Given the description of an element on the screen output the (x, y) to click on. 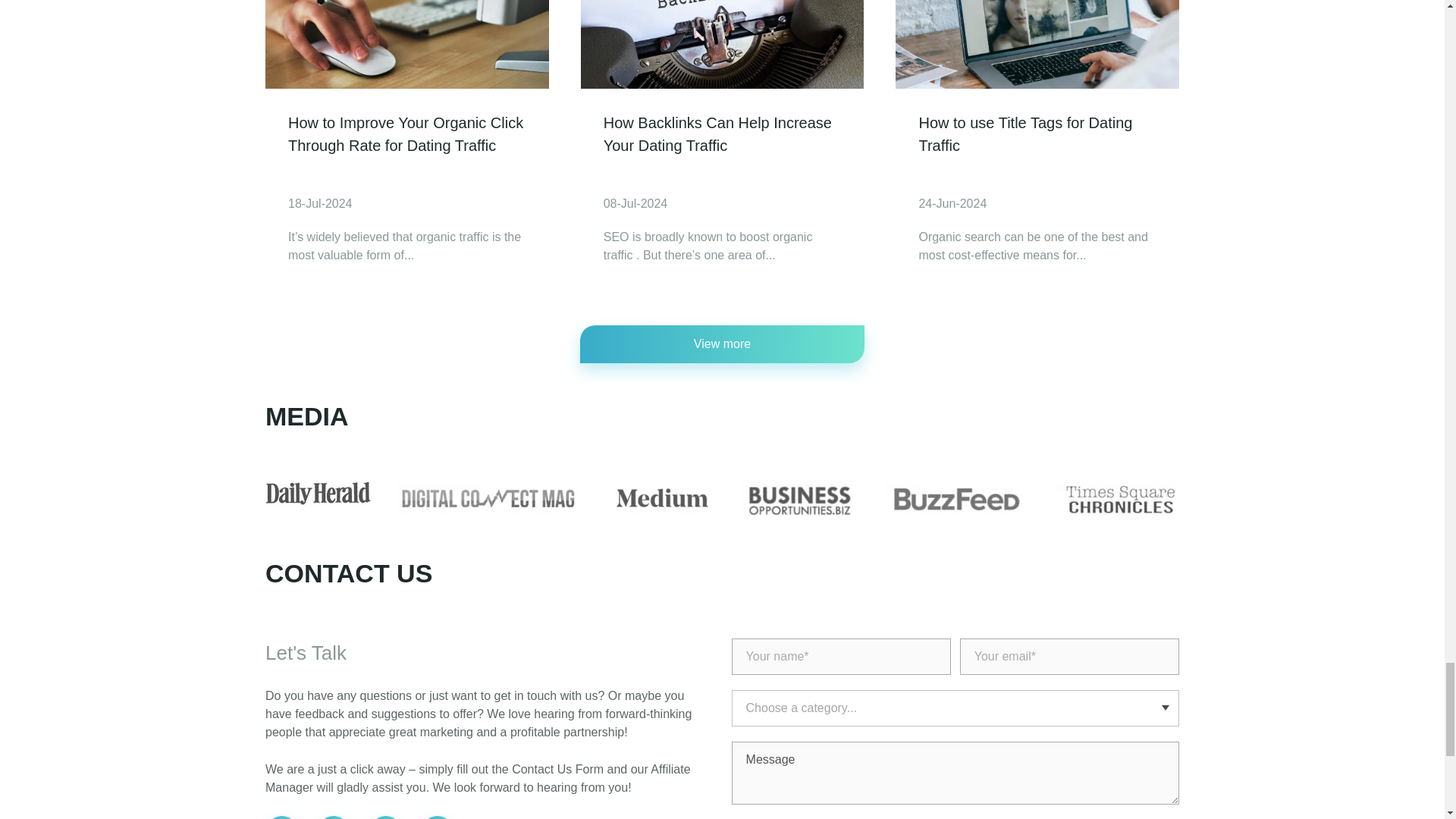
Phone (281, 817)
Telegram (386, 817)
Skype (437, 817)
Whatsapp (333, 817)
